Given the description of an element on the screen output the (x, y) to click on. 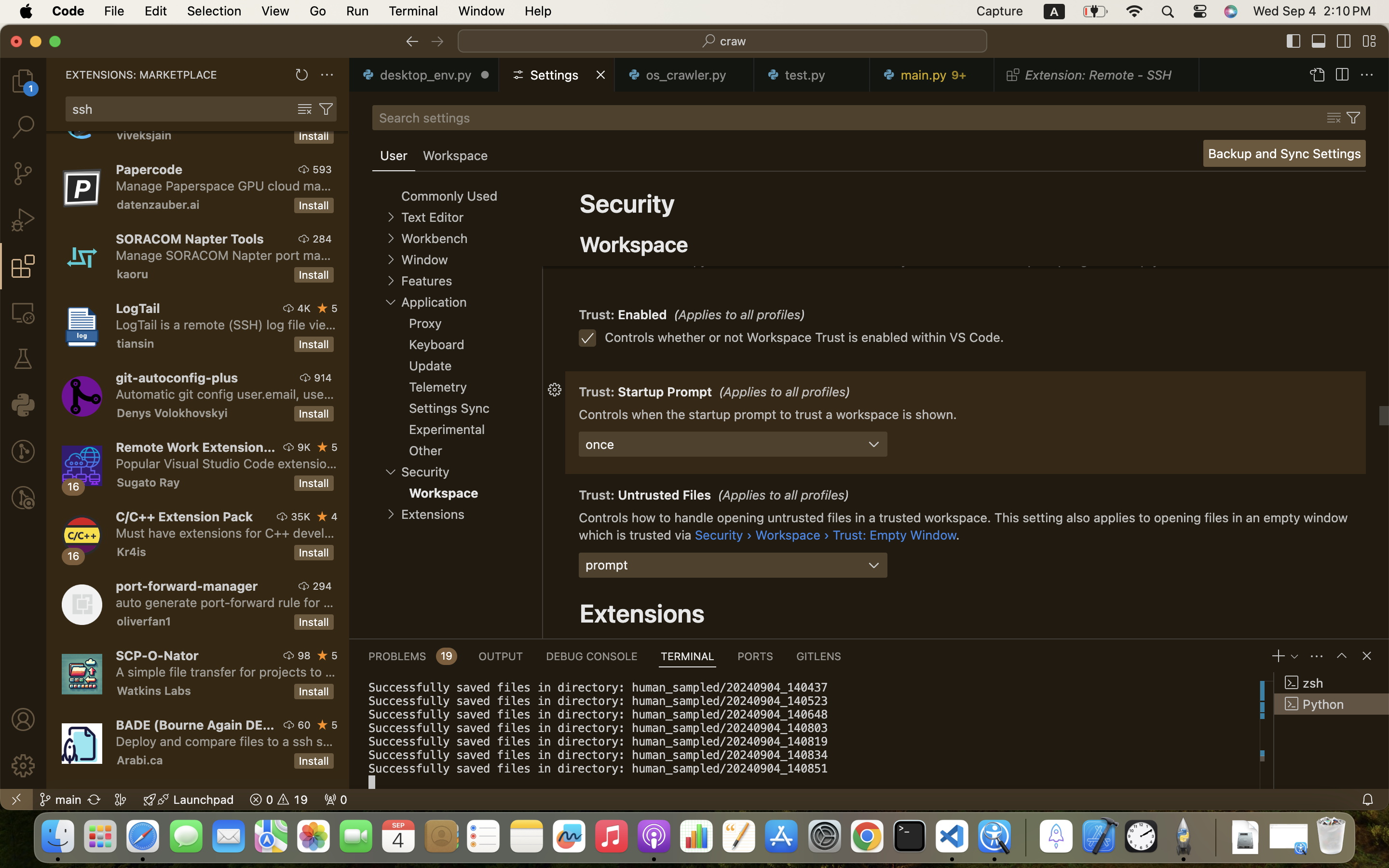
0 Element type: AXRadioButton (454, 155)
 Element type: AXButton (1341, 74)
 Element type: AXButton (437, 41)
294 Element type: AXStaticText (321, 585)
98 Element type: AXStaticText (304, 655)
